Given the description of an element on the screen output the (x, y) to click on. 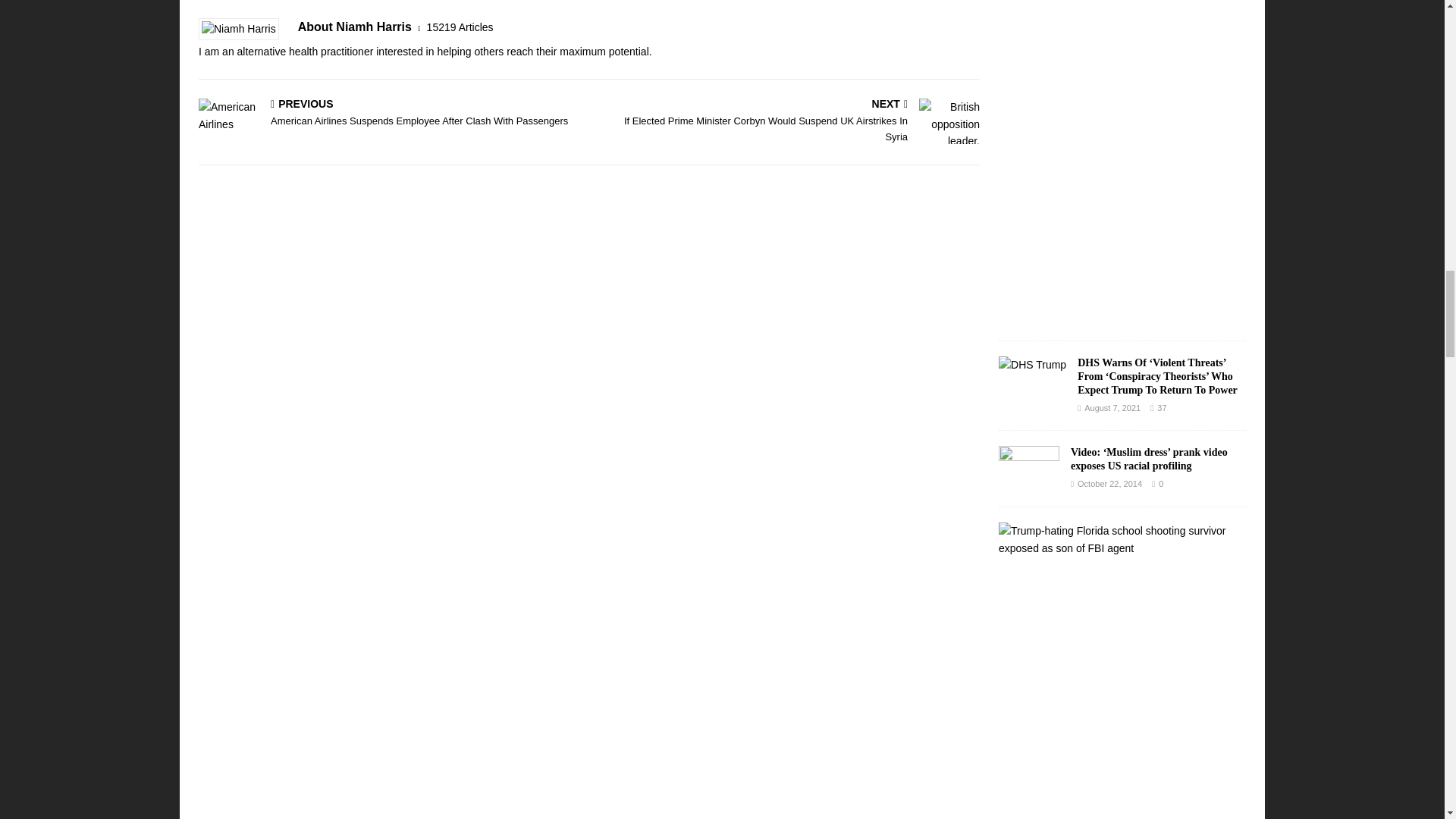
More articles written by Niamh Harris' (459, 27)
